Given the description of an element on the screen output the (x, y) to click on. 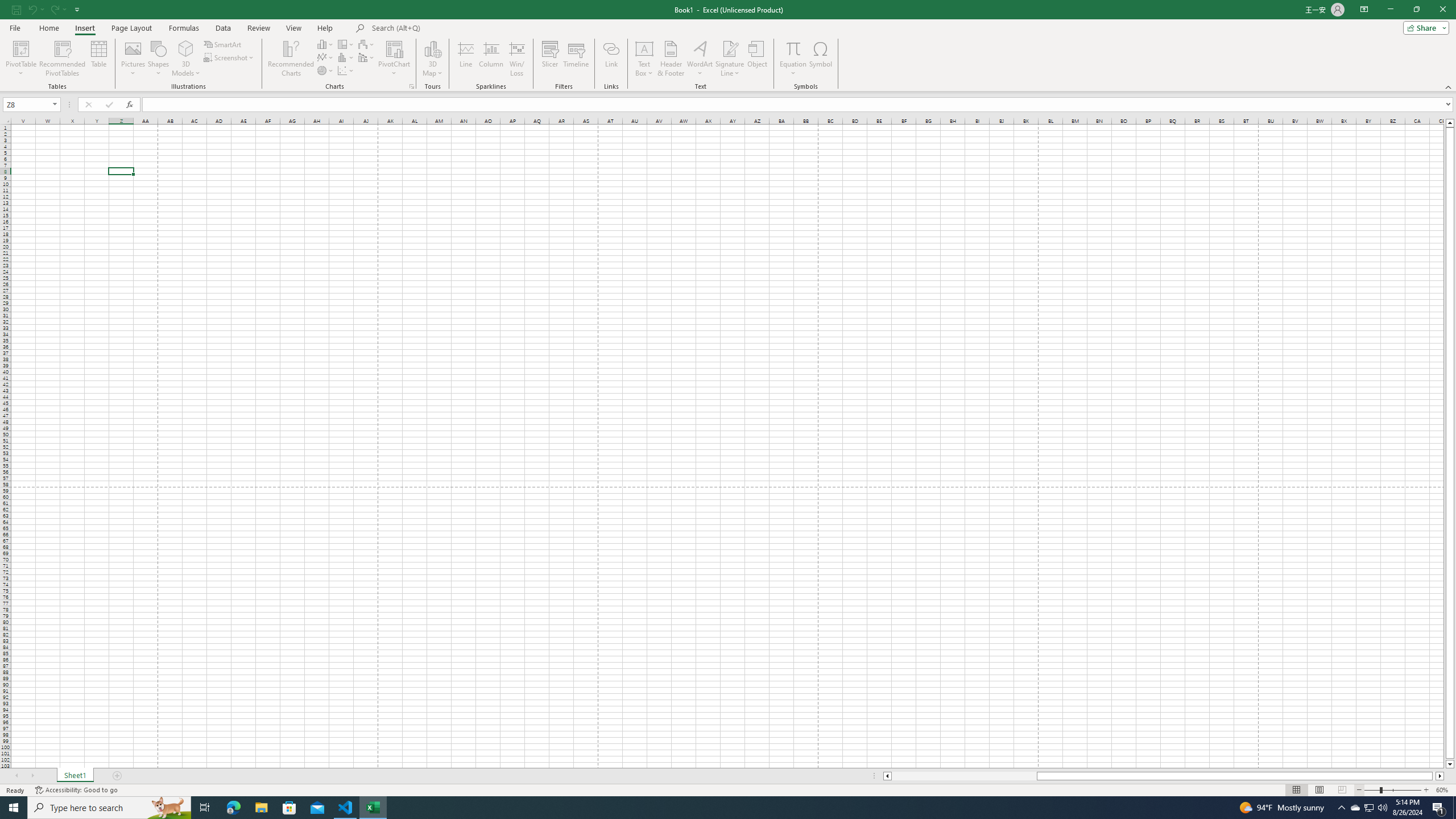
PivotChart (394, 48)
Recommended Charts (411, 85)
PivotTable (20, 48)
Slicer... (550, 58)
Screenshot (229, 56)
Table (98, 58)
